Given the description of an element on the screen output the (x, y) to click on. 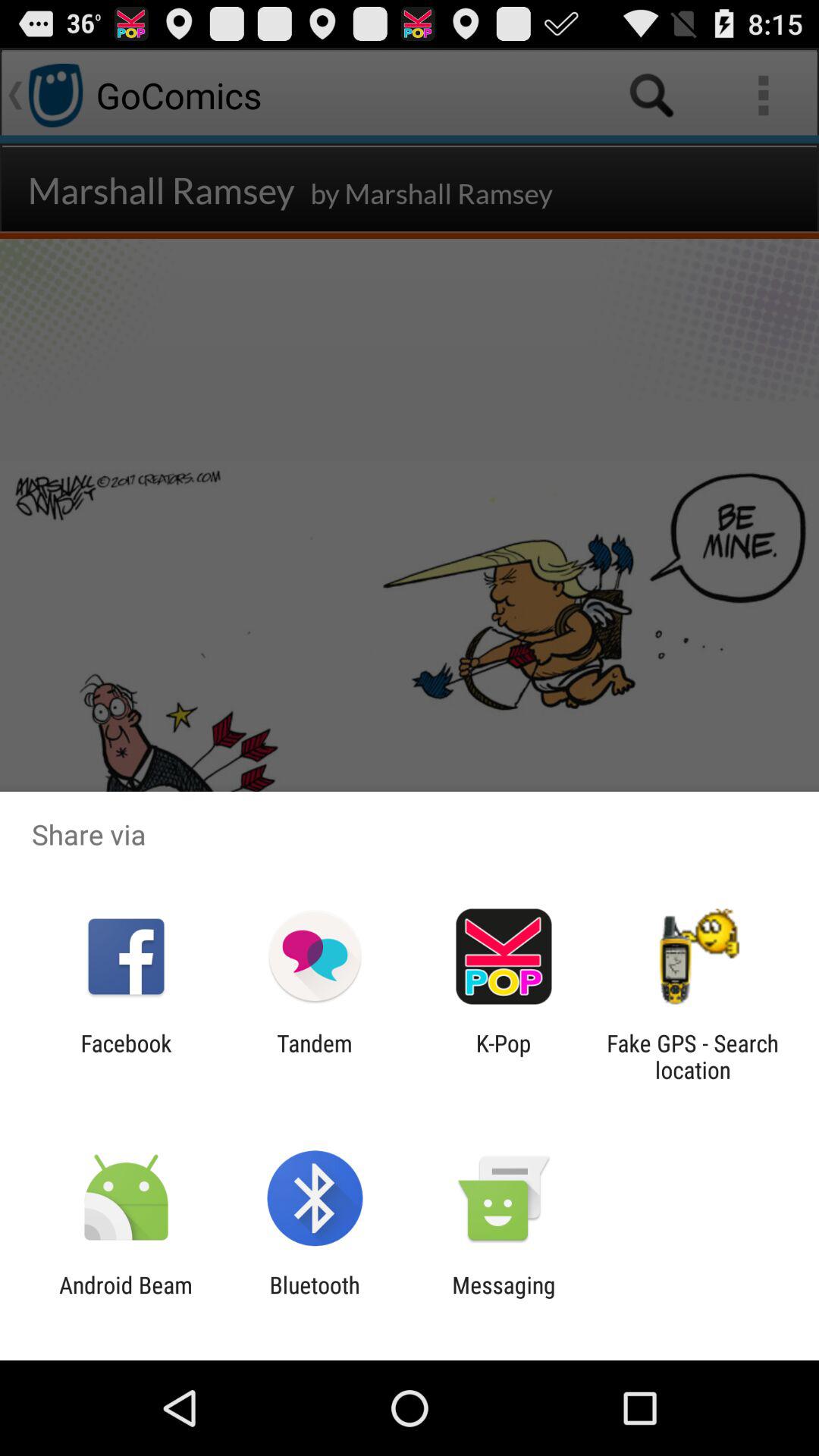
scroll until the facebook (125, 1056)
